Given the description of an element on the screen output the (x, y) to click on. 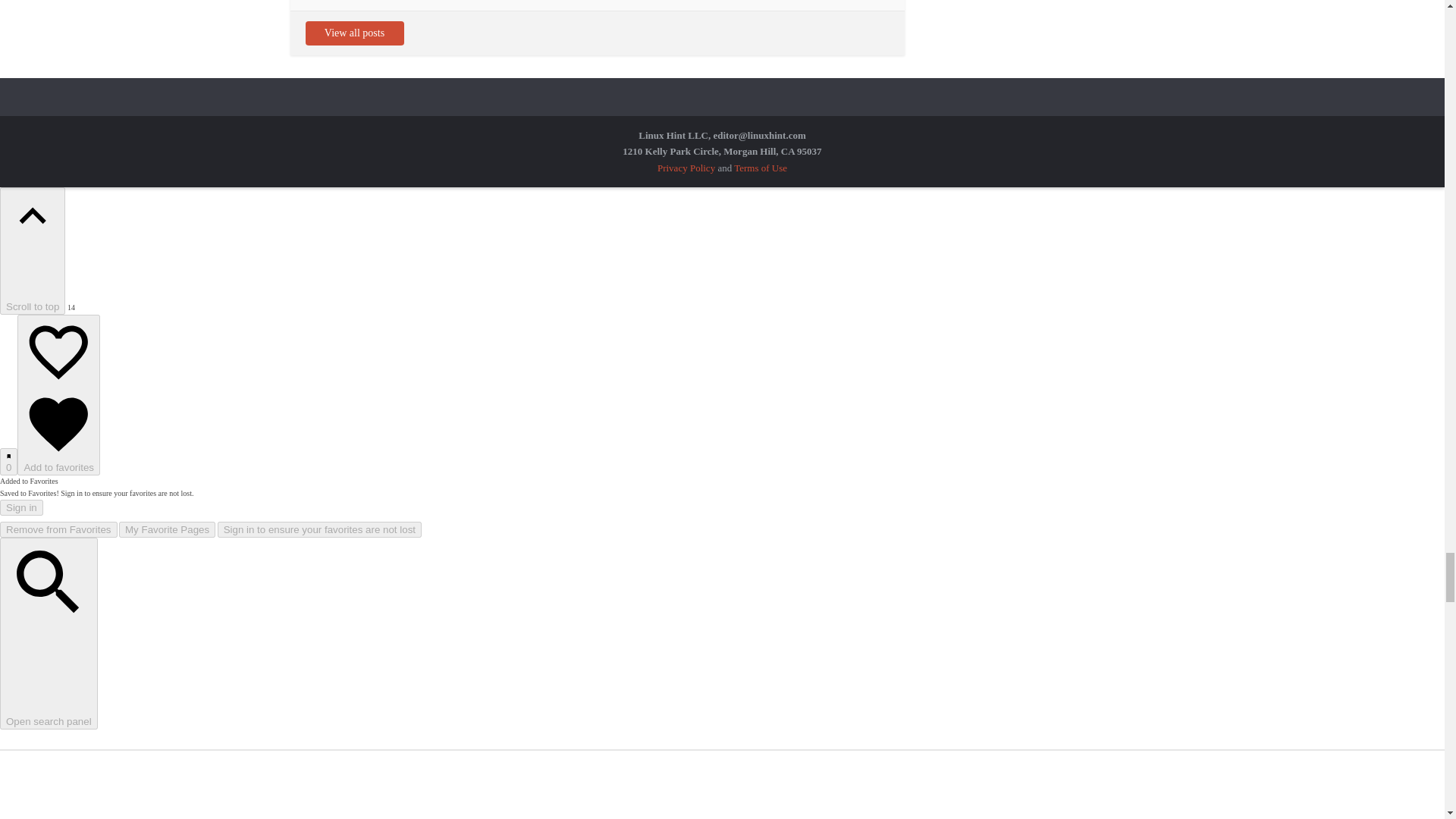
View all posts (353, 33)
Privacy Policy (686, 167)
Terms of Use (760, 167)
